Given the description of an element on the screen output the (x, y) to click on. 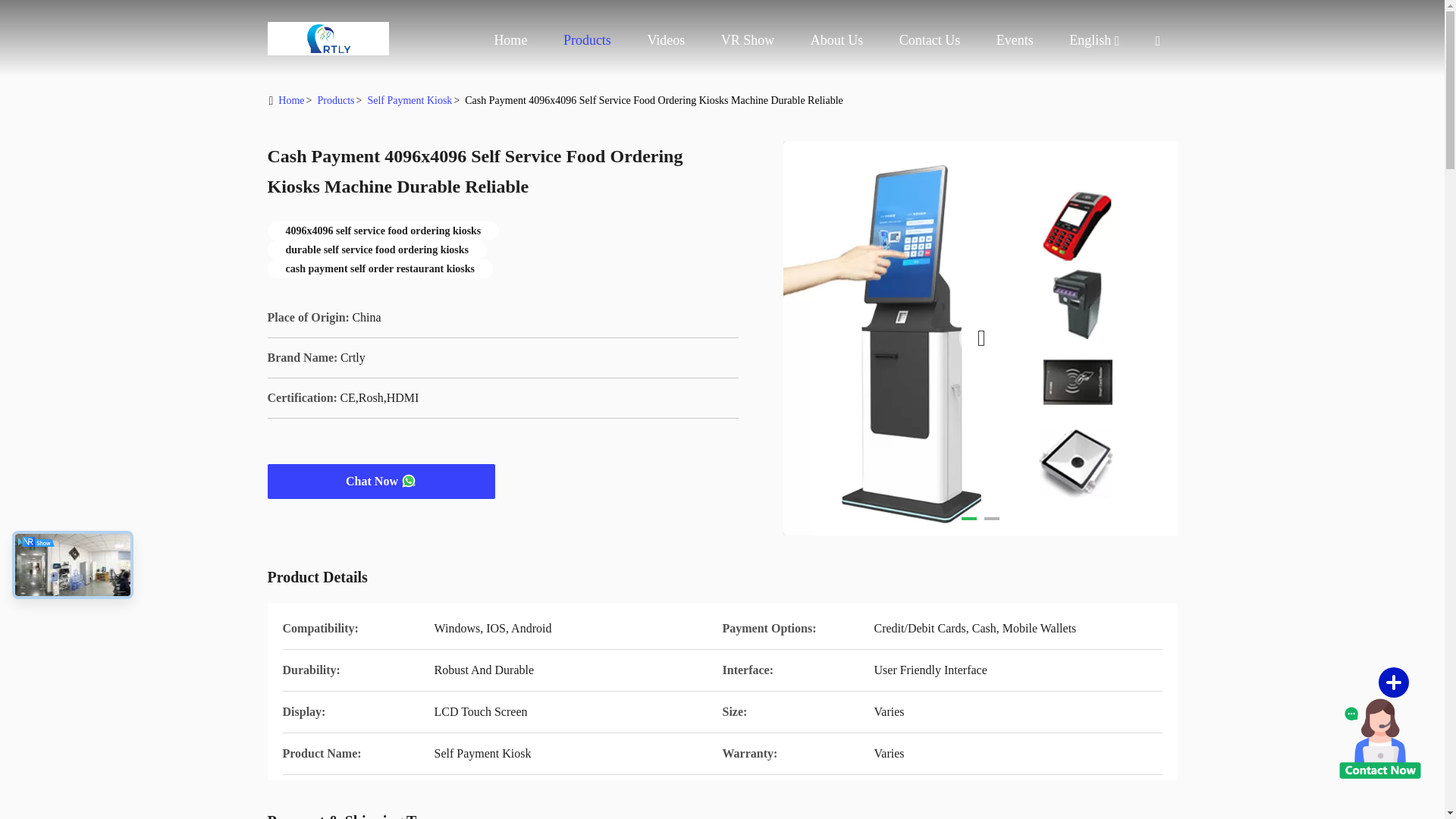
Products (587, 40)
About Us (836, 40)
Home (510, 40)
Events (1014, 40)
Contact Us (929, 40)
Videos (665, 40)
Products (587, 40)
Home (327, 37)
VR Show (747, 40)
Home (510, 40)
